Given the description of an element on the screen output the (x, y) to click on. 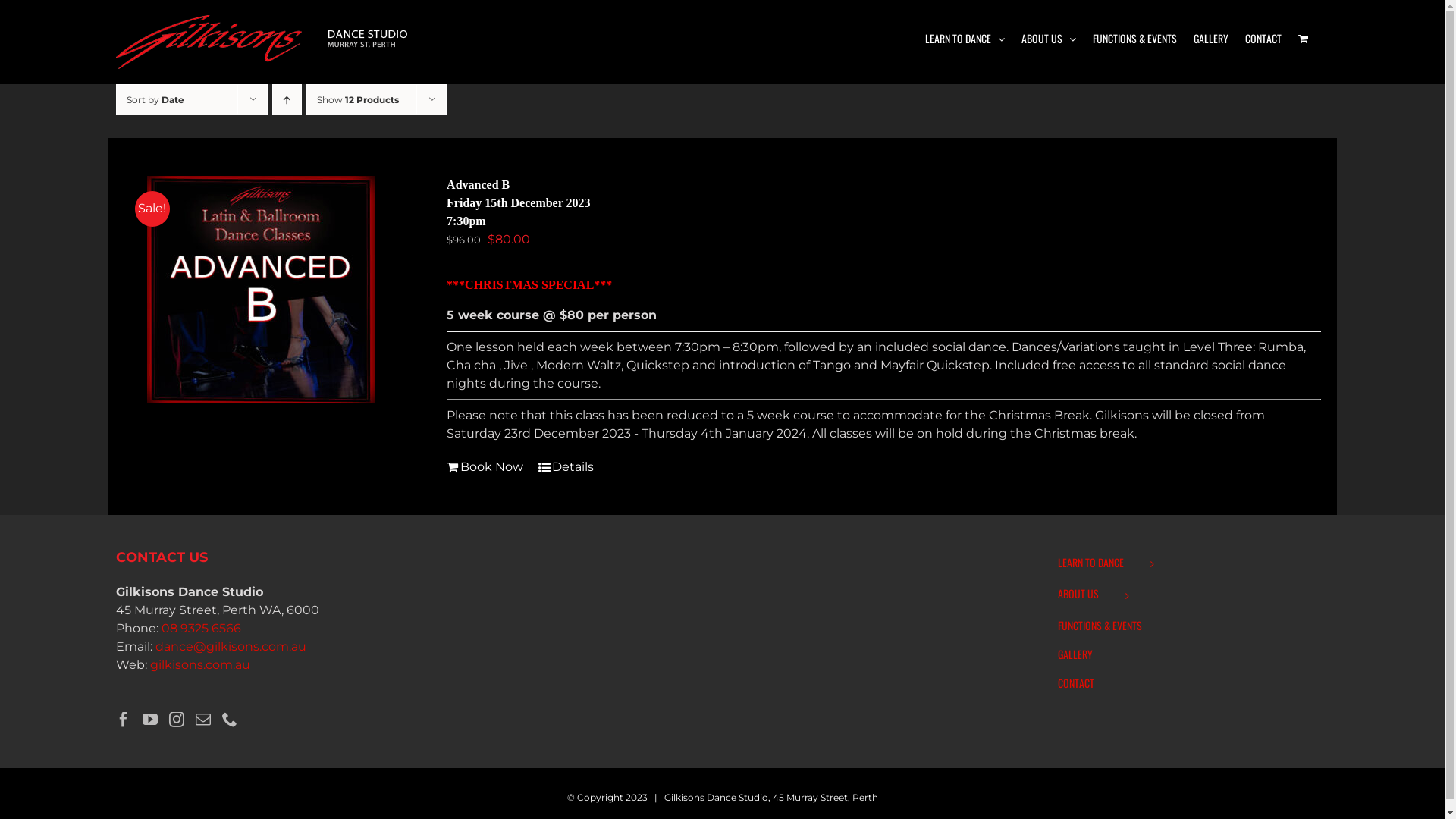
FUNCTIONS & EVENTS Element type: text (1134, 38)
FUNCTIONS & EVENTS Element type: text (1185, 625)
dance@gilkisons.com.au Element type: text (229, 646)
GALLERY Element type: text (1210, 38)
Book Now Element type: text (484, 467)
Sale! Element type: text (260, 289)
CONTACT Element type: text (1263, 38)
Sort by Date Element type: text (154, 99)
08 9325 6566 Element type: text (200, 628)
Details Element type: text (565, 467)
GALLERY Element type: text (1185, 654)
gilkisons.com.au Element type: text (200, 664)
Show 12 Products Element type: text (357, 99)
ABOUT US Element type: text (1185, 594)
Advanced B
Friday 15th December 2023
7:30pm Element type: text (517, 202)
LEARN TO DANCE Element type: text (964, 38)
LEARN TO DANCE Element type: text (1185, 563)
CONTACT Element type: text (1185, 682)
ABOUT US Element type: text (1047, 38)
